Given the description of an element on the screen output the (x, y) to click on. 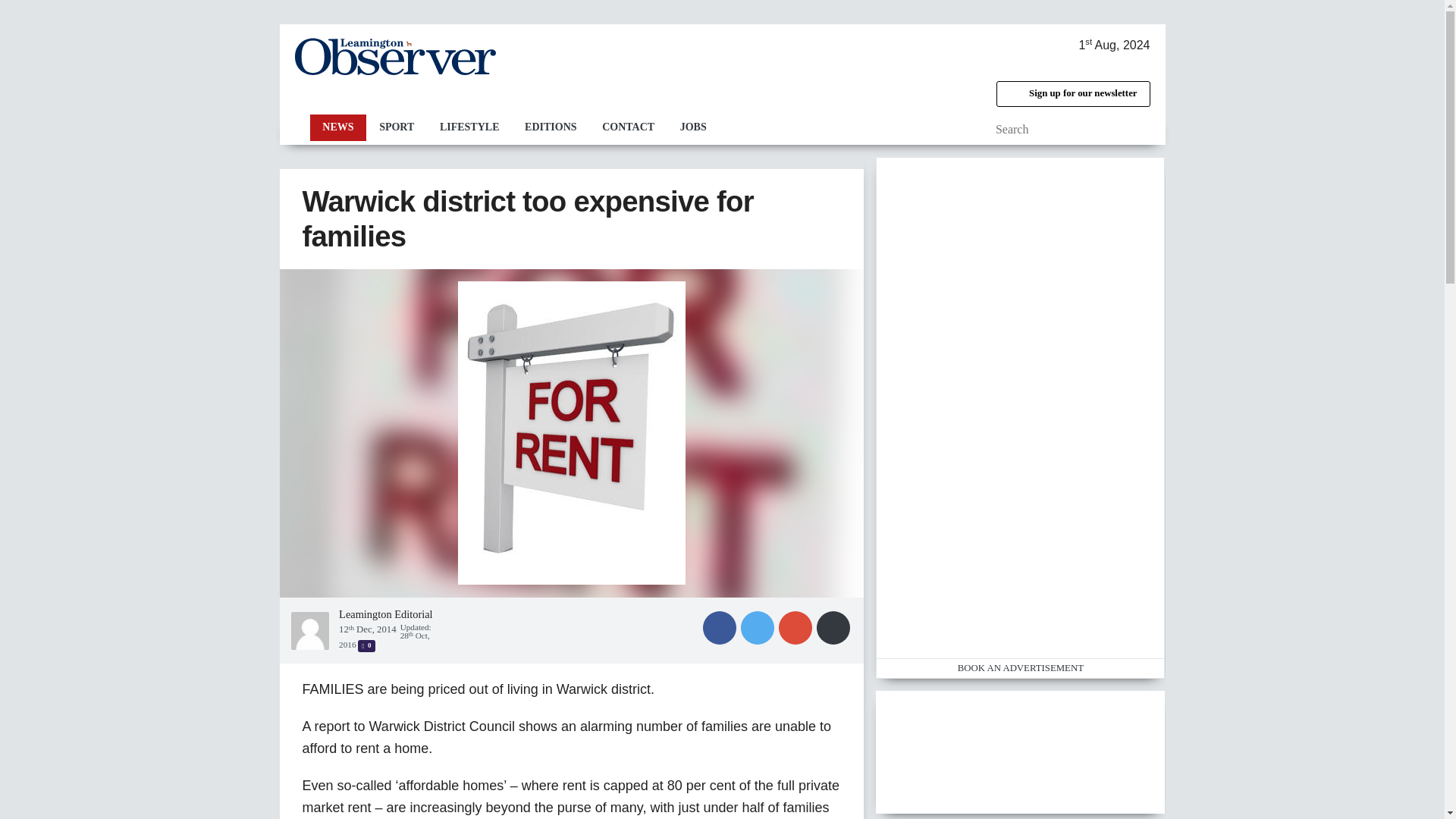
LIFESTYLE (469, 127)
CONTACT (627, 127)
The Leamington Observer (394, 55)
JOBS (692, 127)
  Sign up for our newsletter (1072, 94)
EDITIONS (550, 127)
SPORT (396, 127)
NEWS (337, 127)
